Given the description of an element on the screen output the (x, y) to click on. 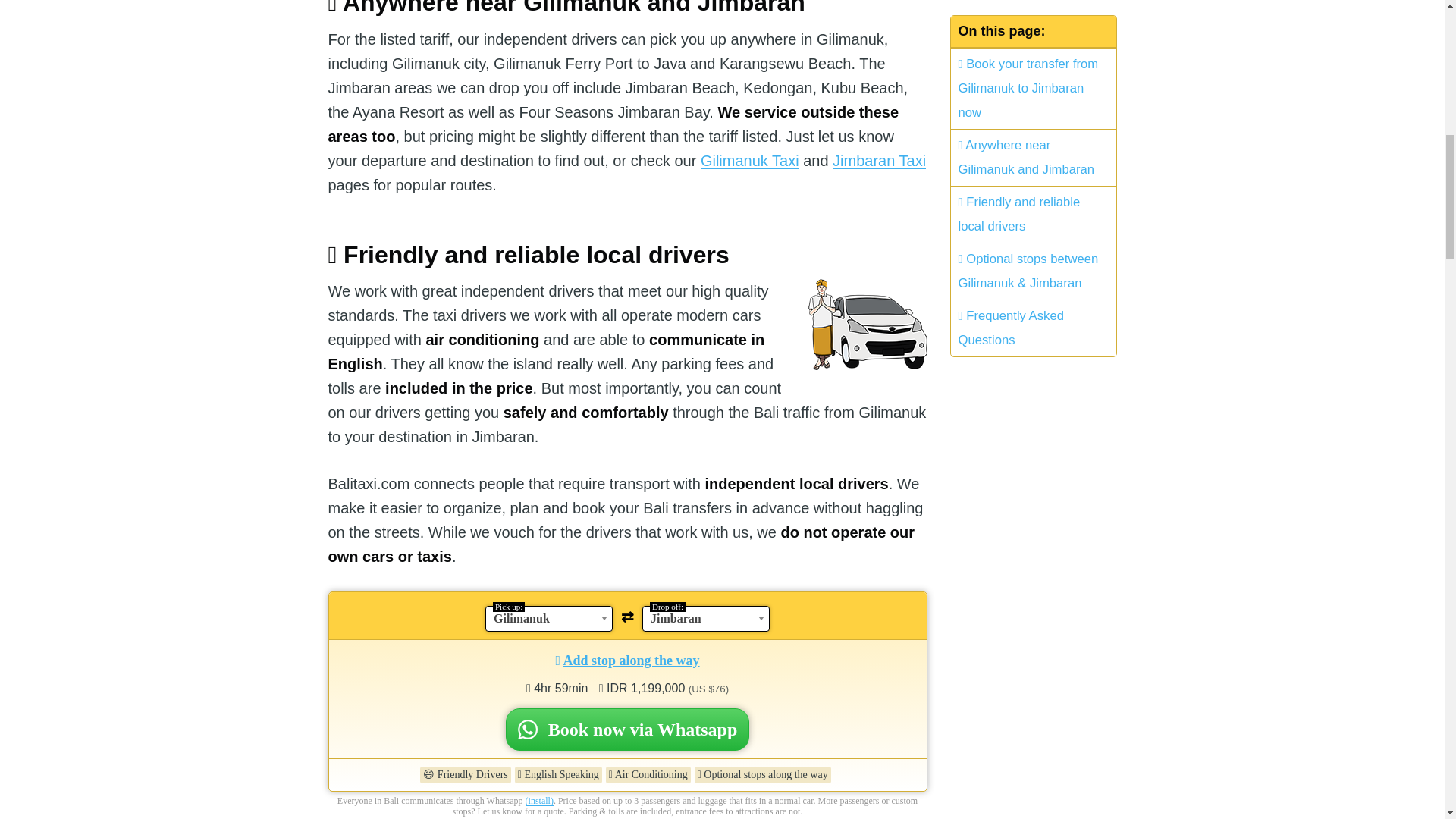
Gilimanuk Taxi (749, 160)
Jimbaran Taxi (879, 160)
